Given the description of an element on the screen output the (x, y) to click on. 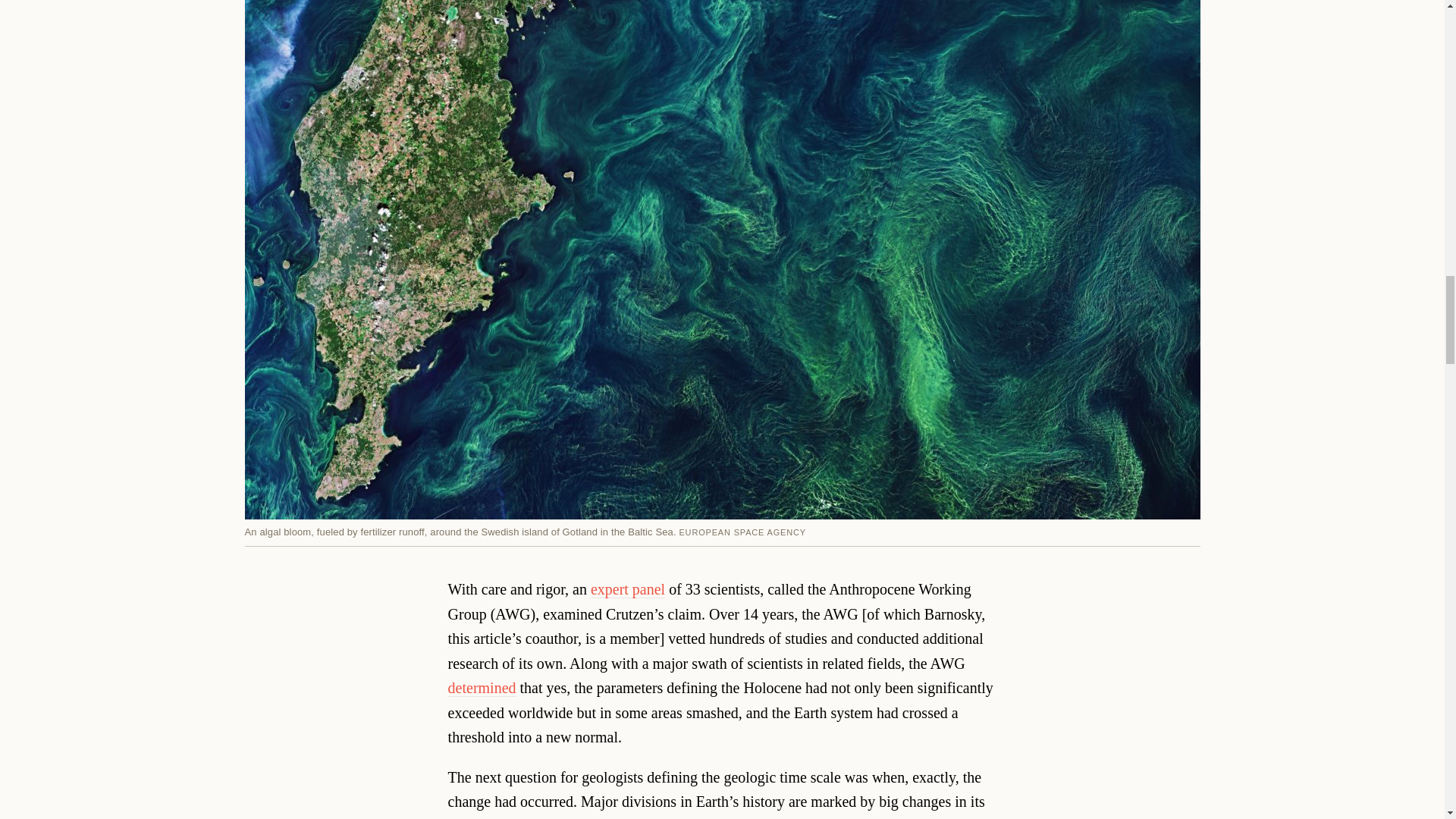
expert panel (628, 589)
determined (482, 687)
